Given the description of an element on the screen output the (x, y) to click on. 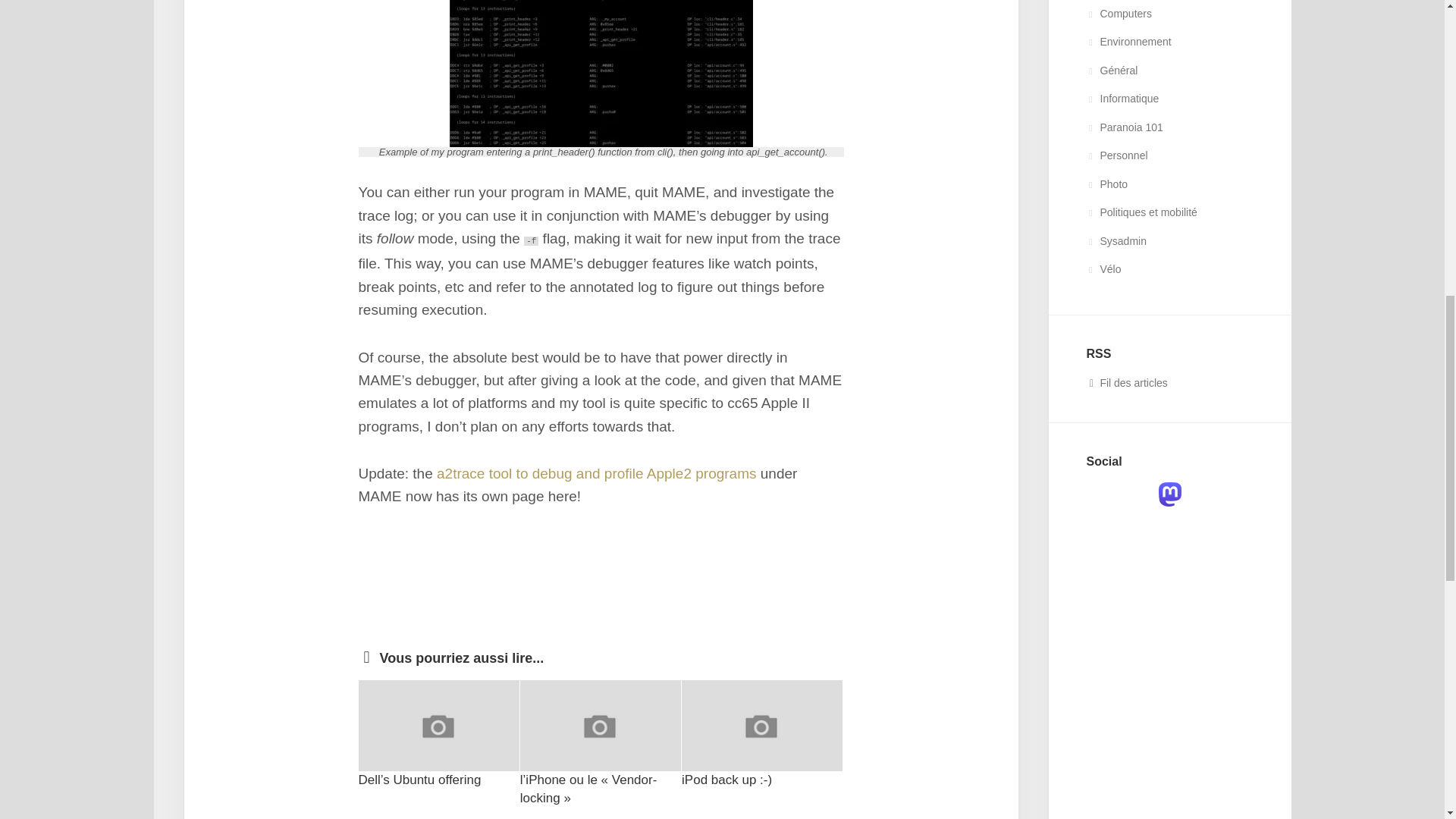
Computers (1118, 13)
a2trace tool to debug and profile Apple2 programs (595, 473)
